Given the description of an element on the screen output the (x, y) to click on. 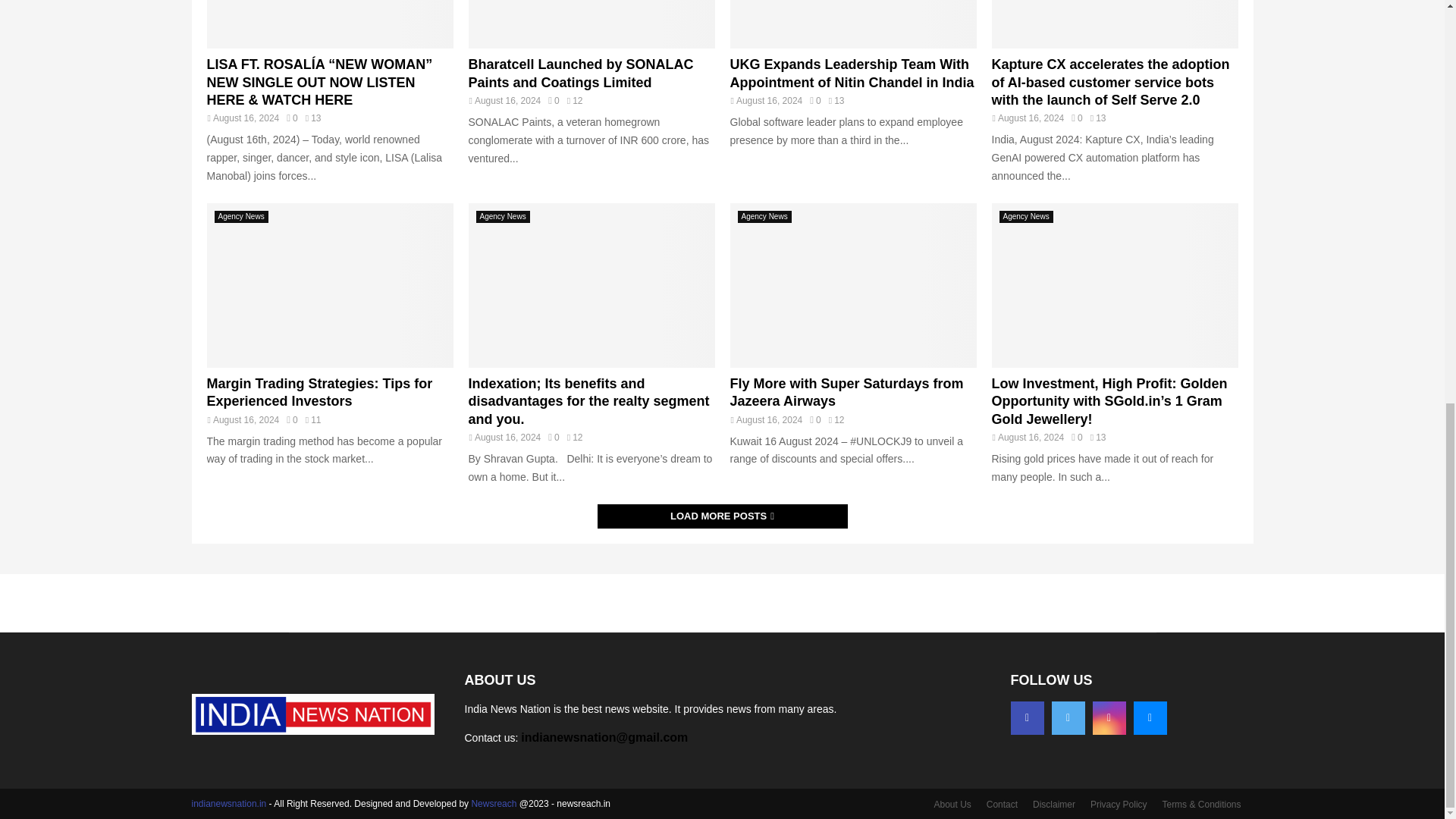
0 (291, 118)
Margin Trading Strategies: Tips for Experienced Investors (319, 391)
Bharatcell Launched by SONALAC Paints and Coatings Limited (591, 24)
 Margin Trading Strategies: Tips for Experienced Investors  (319, 391)
Agency News (240, 216)
0 (553, 100)
